Given the description of an element on the screen output the (x, y) to click on. 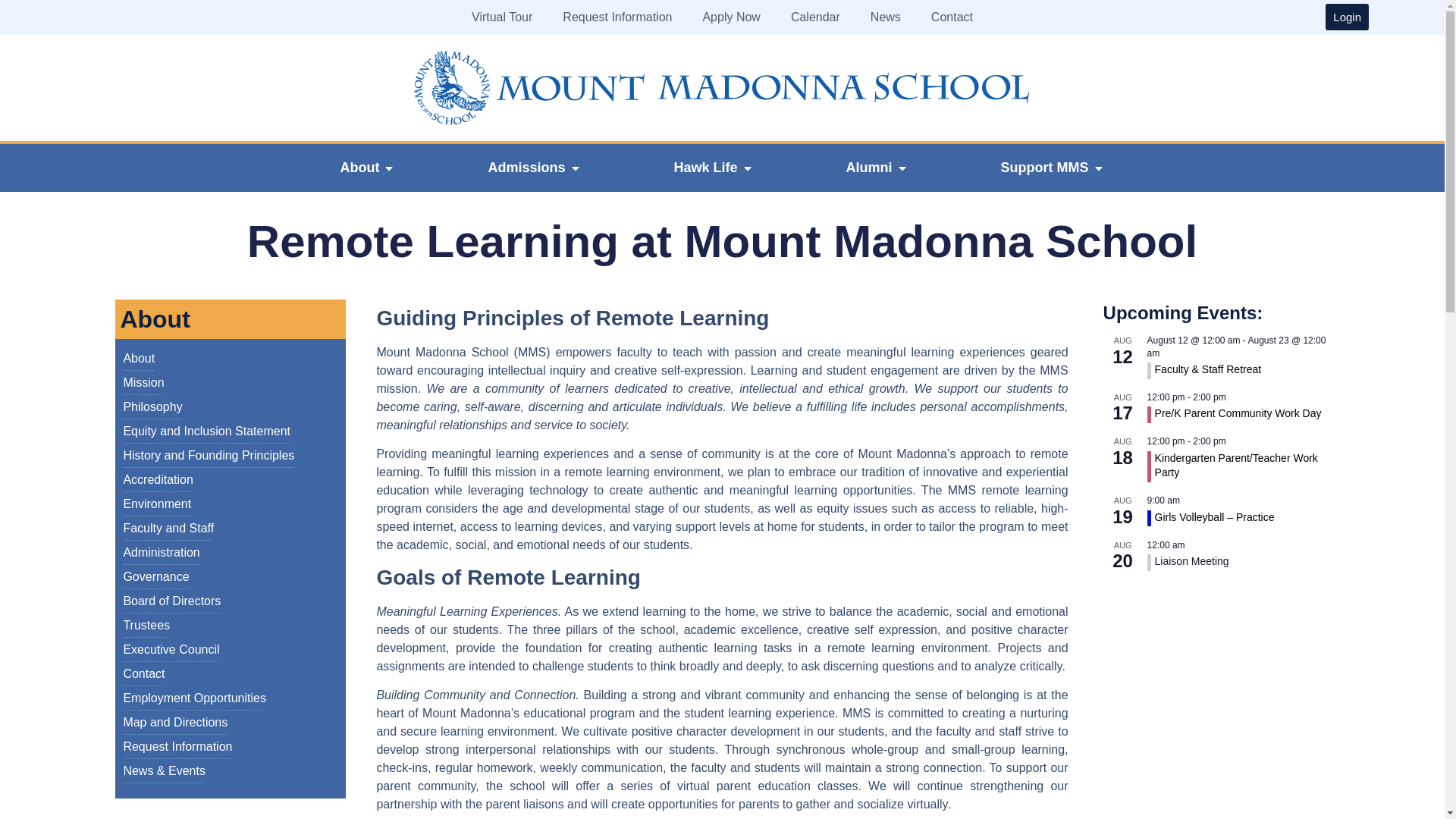
Support MMS (1045, 168)
Request Information (617, 17)
Apply Now (730, 17)
Alumni (868, 168)
News (885, 17)
Virtual Tour (502, 17)
Calendar (816, 17)
Admissions (525, 168)
Hawk Life (704, 168)
Login (1346, 17)
